Given the description of an element on the screen output the (x, y) to click on. 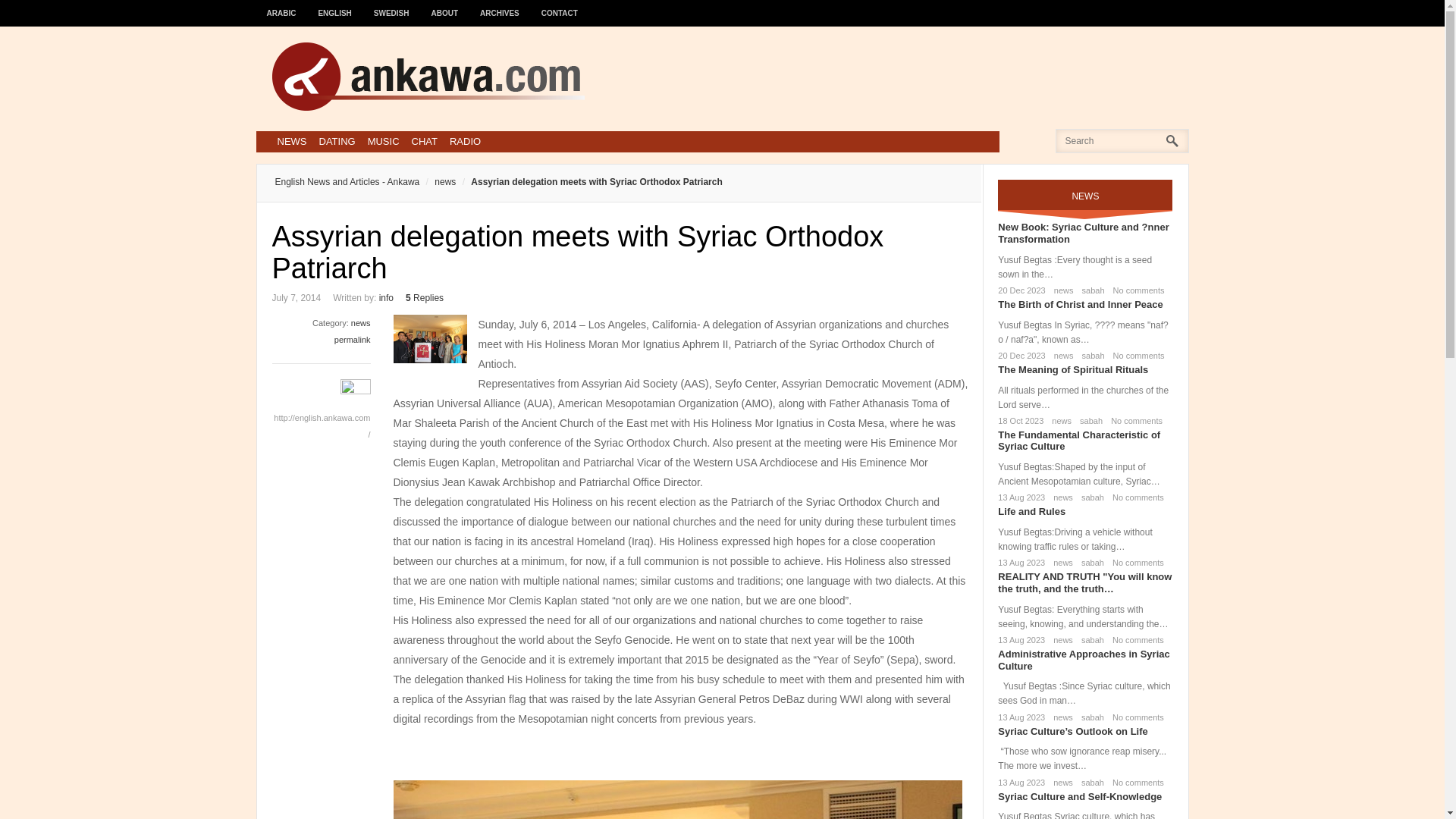
info (385, 297)
news (1058, 420)
No comments (1135, 289)
CHAT (425, 141)
No comments (1133, 420)
The Meaning of Spiritual Rituals (1072, 369)
The Fundamental Characteristic of Syriac Culture (1078, 440)
The Birth of Christ and Inner Peace (1079, 304)
news (437, 181)
Life and Rules (1031, 511)
SWEDISH (391, 5)
5 Replies (425, 297)
news (1059, 497)
RADIO (465, 141)
